Given the description of an element on the screen output the (x, y) to click on. 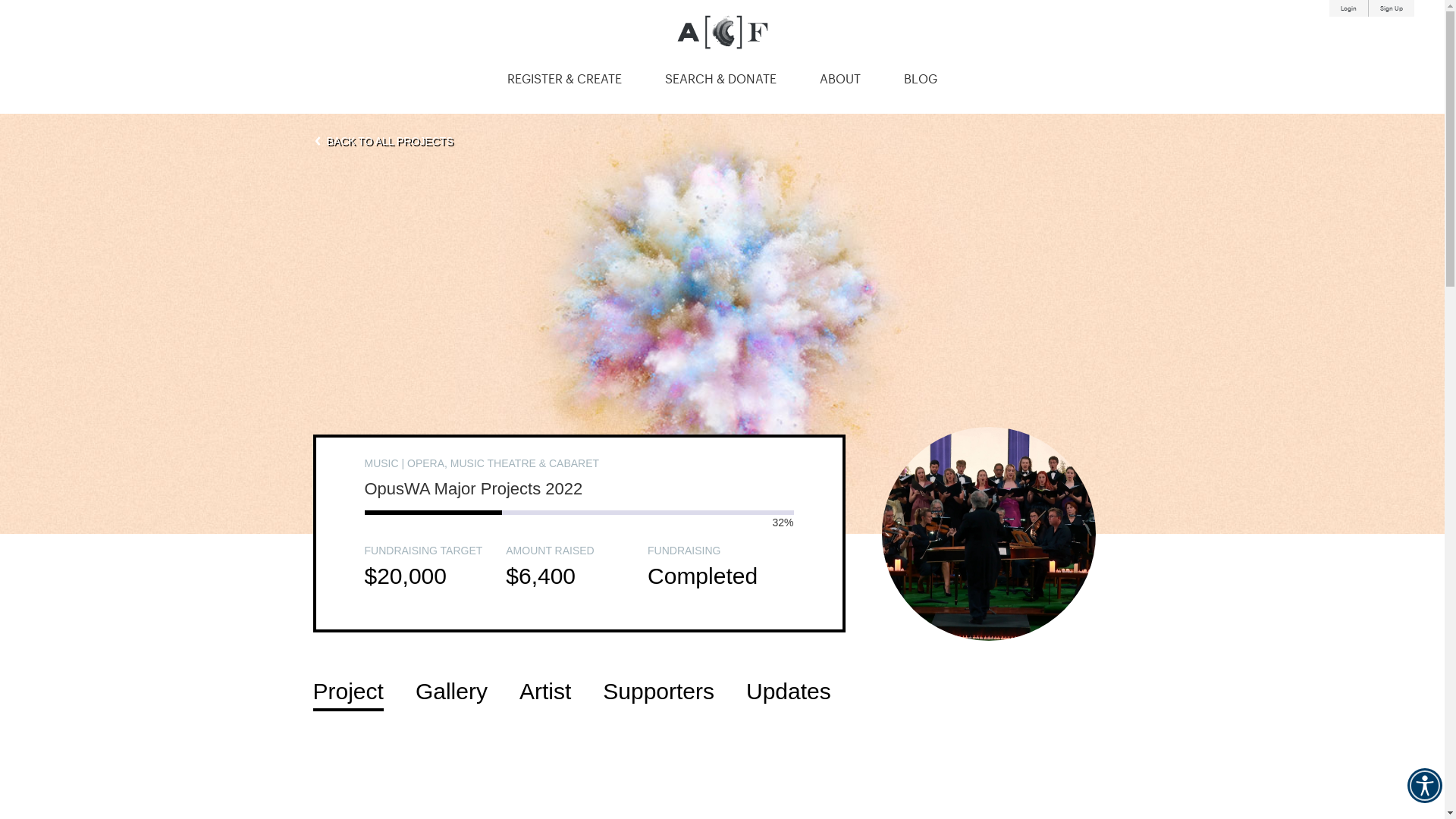
Gallery Element type: text (451, 691)
Artist Element type: text (545, 691)
Supporters Element type: text (658, 691)
Sign Up Element type: text (1391, 8)
REGISTER & CREATE Element type: text (564, 79)
ABOUT Element type: text (839, 79)
Australian Cultural Fund Element type: text (721, 32)
BLOG Element type: text (920, 79)
Login Element type: text (1348, 8)
Donation progress 32% Element type: hover (578, 512)
Project Element type: text (347, 691)
BACK TO ALL PROJECTS Element type: text (384, 141)
SEARCH & DONATE Element type: text (720, 79)
Updates Element type: text (788, 691)
